Given the description of an element on the screen output the (x, y) to click on. 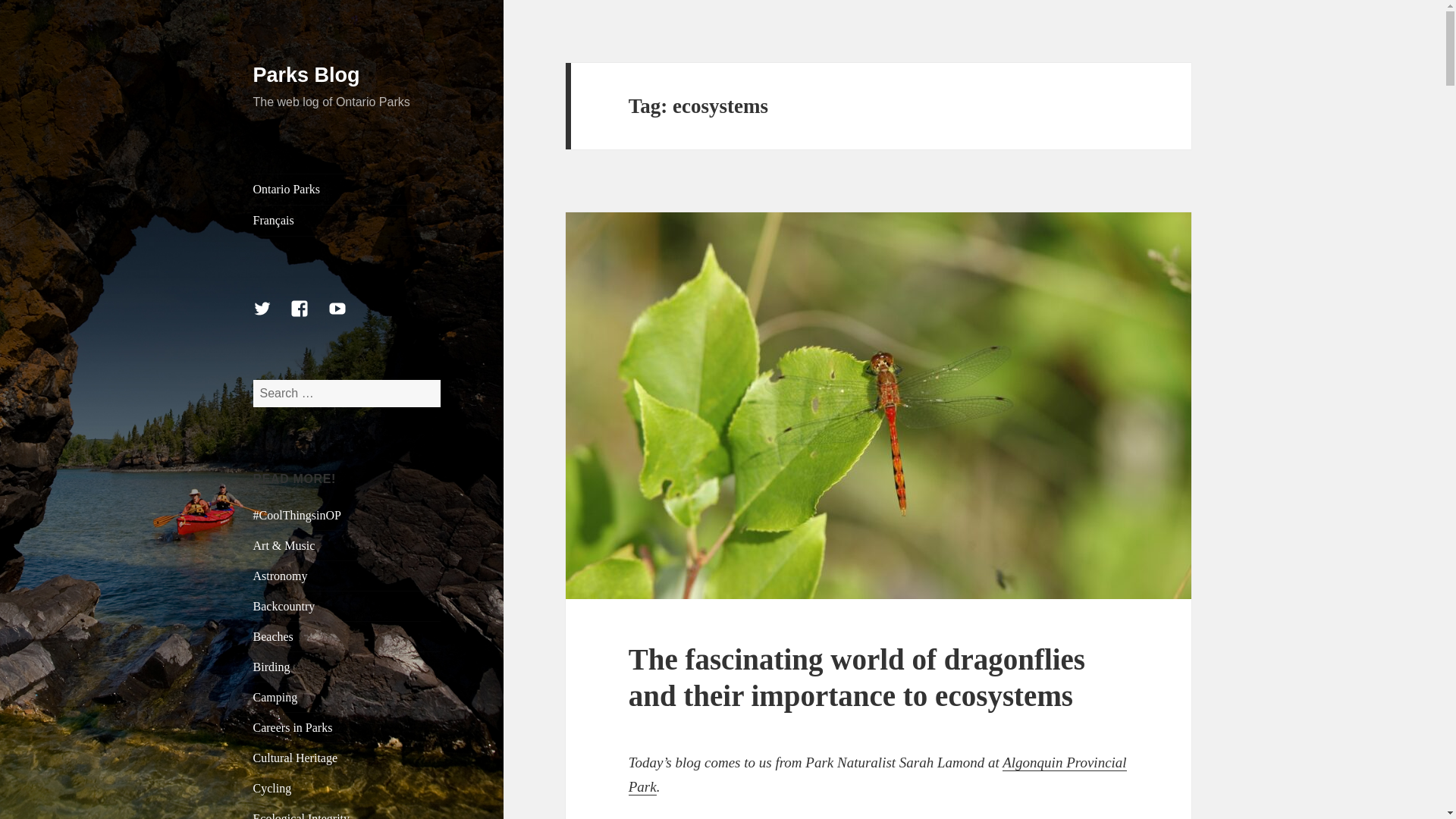
Astronomy (280, 575)
Facebook Page (307, 317)
YouTube Channel (347, 317)
Ontario Parks (347, 189)
Cultural Heritage (295, 757)
Beaches (273, 635)
Careers in Parks (293, 727)
Birding (271, 666)
Backcountry (284, 605)
Ecological Integrity (301, 815)
Camping (275, 697)
Cycling (272, 788)
Twitter (271, 317)
